Given the description of an element on the screen output the (x, y) to click on. 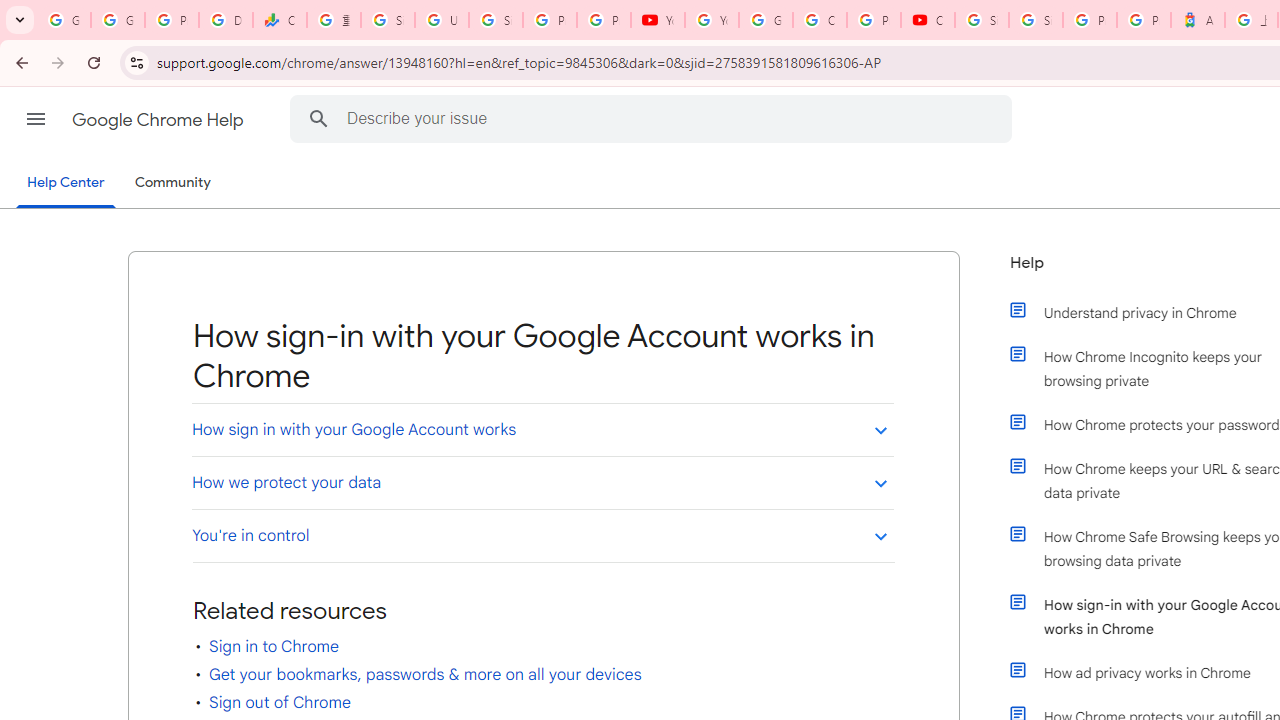
Atour Hotel - Google hotels (1197, 20)
Main menu (35, 119)
Describe your issue (653, 118)
YouTube (711, 20)
Google Chrome Help (159, 119)
How sign in with your Google Account works (542, 429)
Content Creator Programs & Opportunities - YouTube Creators (927, 20)
